Given the description of an element on the screen output the (x, y) to click on. 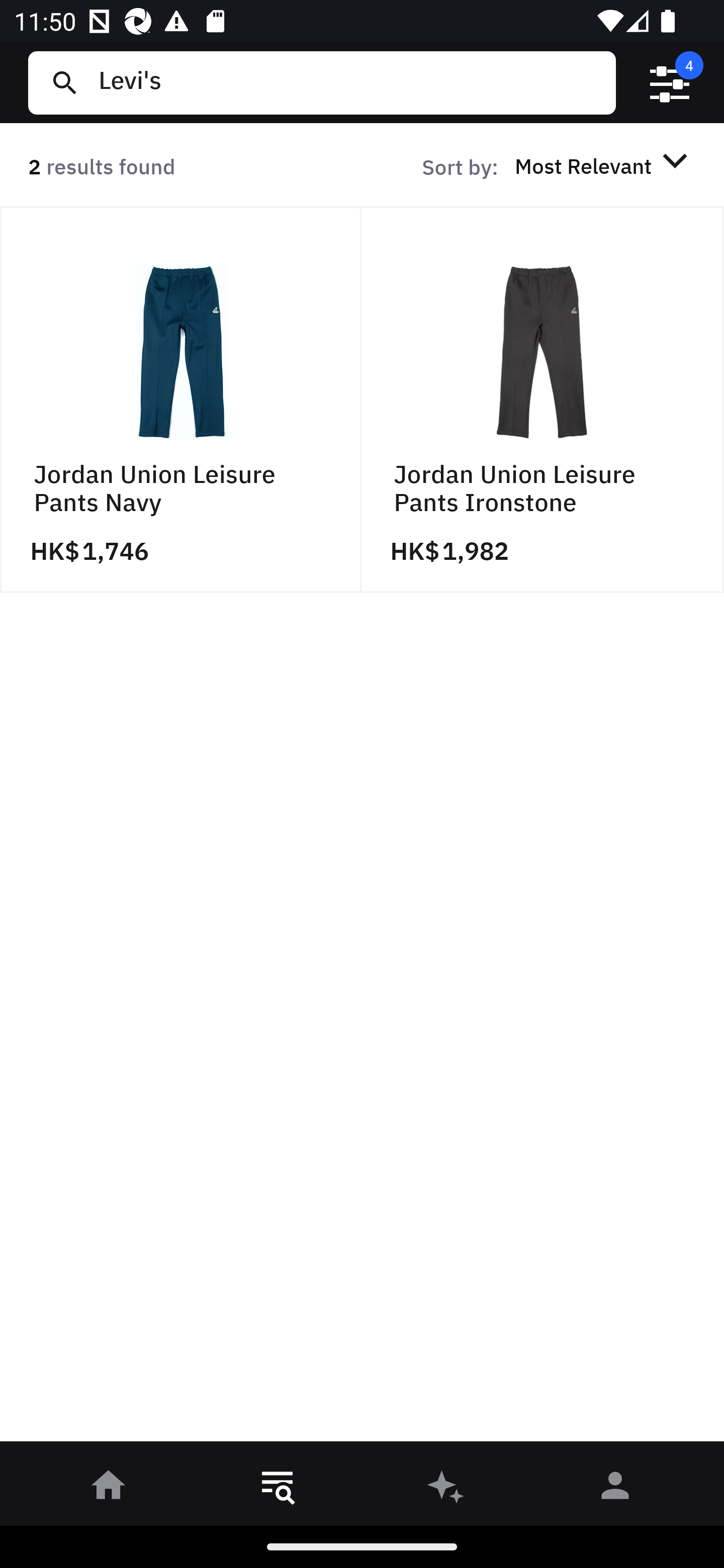
Levi's (349, 82)
 (669, 82)
Most Relevant  (604, 165)
Jordan Union Leisure Pants Navy HK$ 1,746 (181, 399)
Jordan Union Leisure Pants Ironstone HK$ 1,982 (543, 399)
󰋜 (108, 1488)
󱎸 (277, 1488)
󰫢 (446, 1488)
󰀄 (615, 1488)
